Given the description of an element on the screen output the (x, y) to click on. 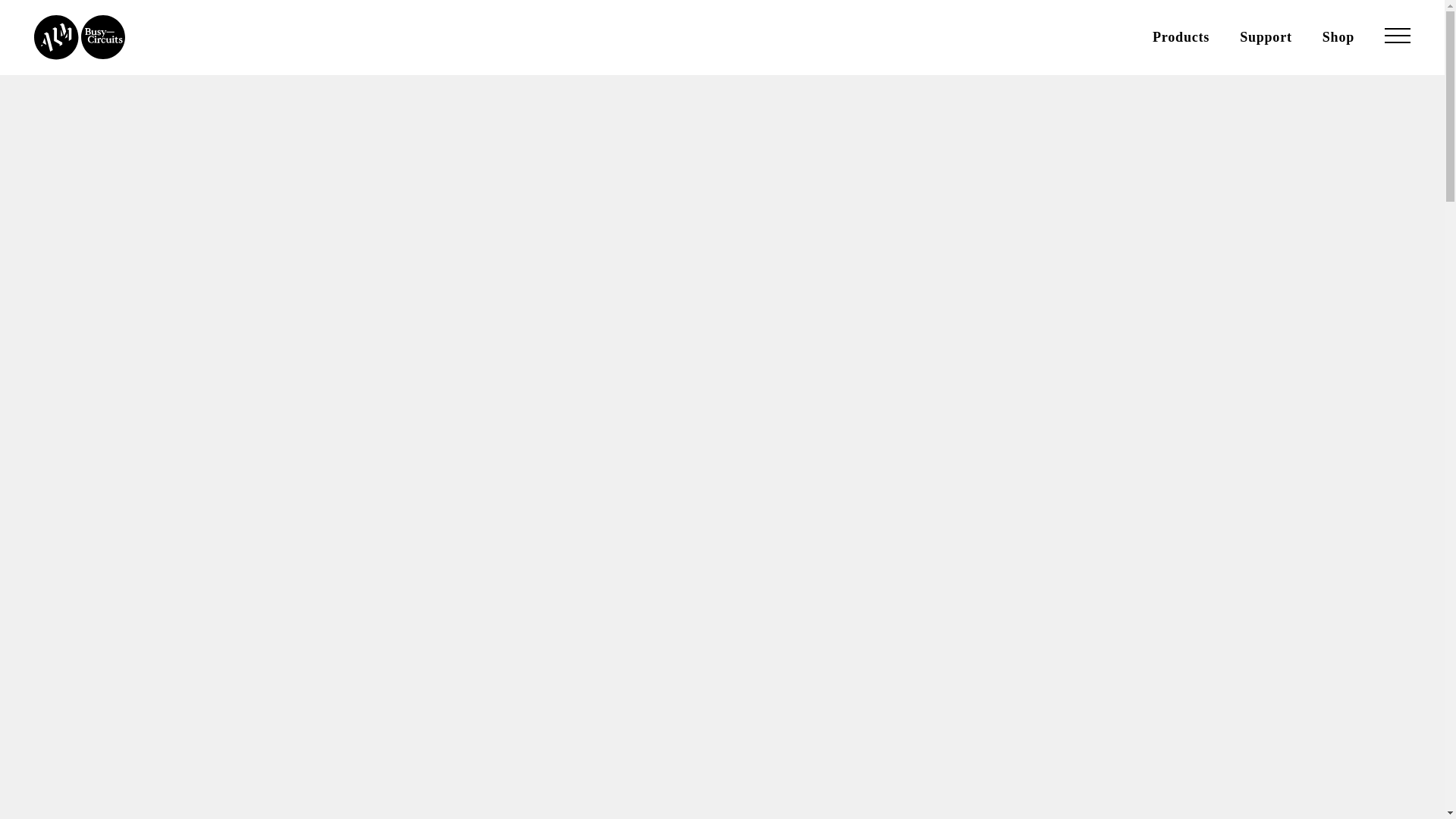
Support (1266, 37)
Shop (1338, 37)
Products (1181, 37)
